Given the description of an element on the screen output the (x, y) to click on. 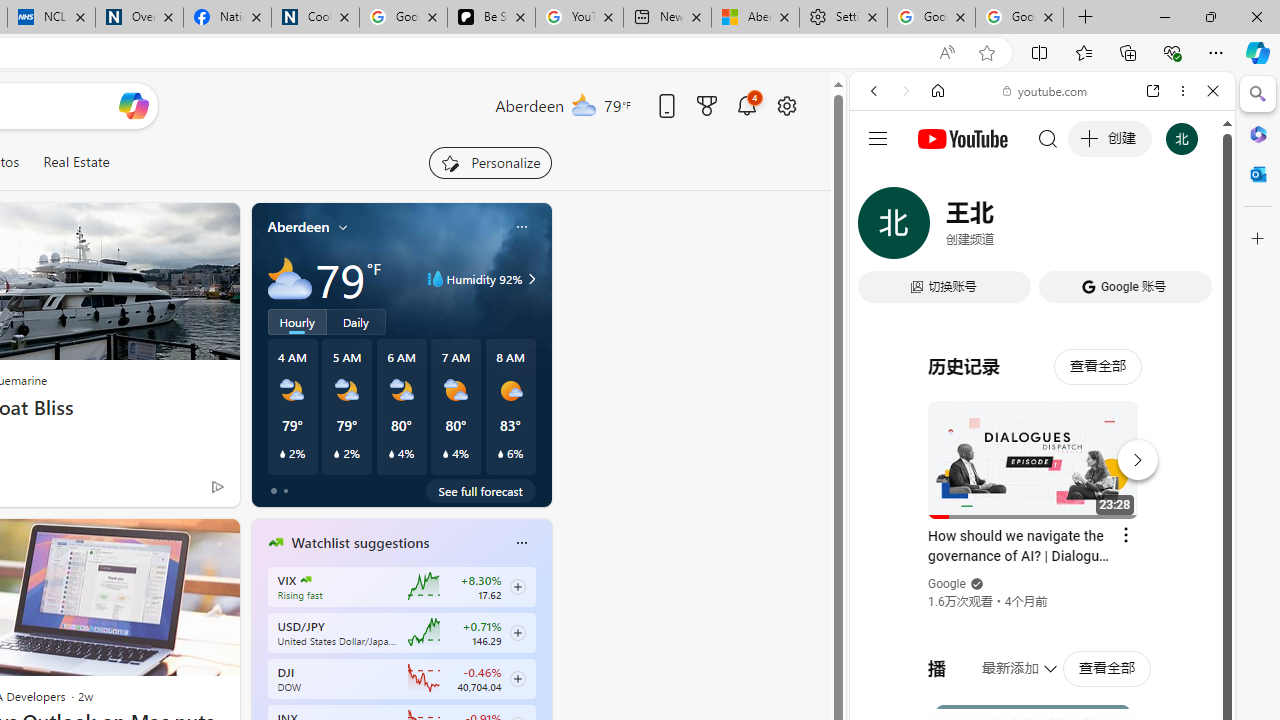
Class: b_serphb (1190, 229)
Daily (356, 321)
tab-1 (285, 490)
Close Customize pane (1258, 239)
Close Outlook pane (1258, 174)
Open link in new tab (1153, 91)
